Given the description of an element on the screen output the (x, y) to click on. 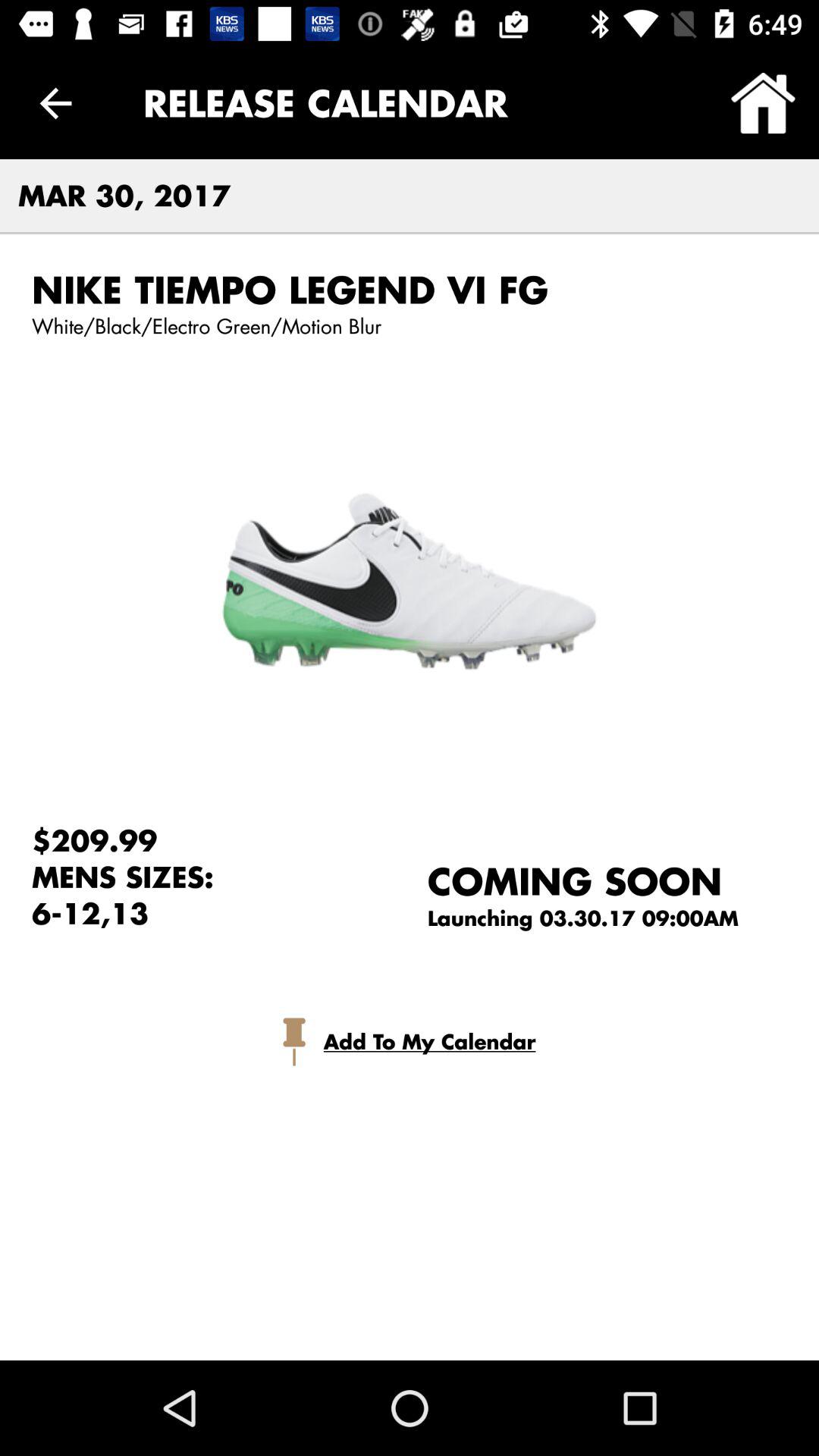
select the icon to the left of release calendar item (55, 103)
